Given the description of an element on the screen output the (x, y) to click on. 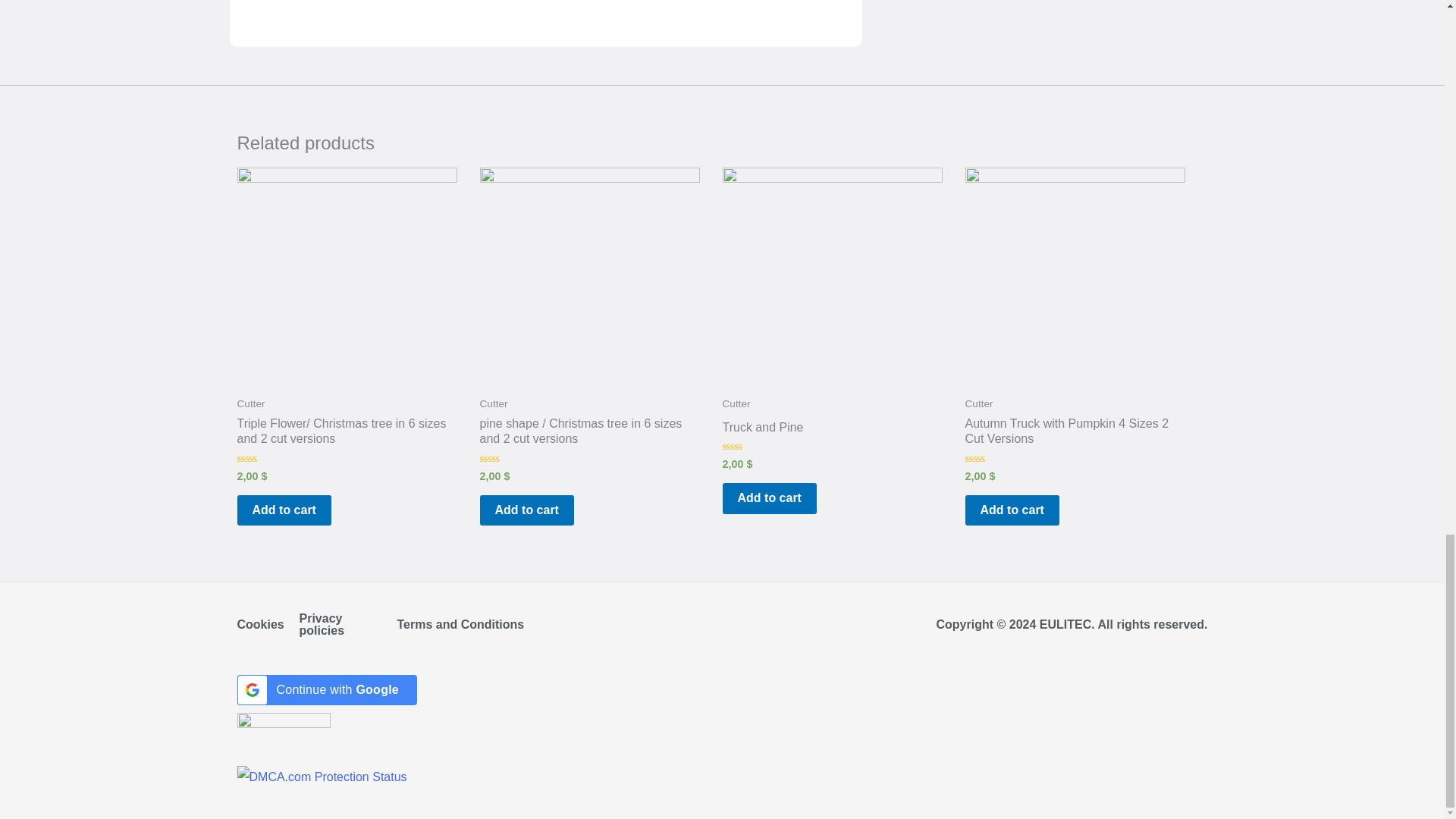
Add to cart (282, 510)
DMCA.com Protection Status (320, 776)
Add to cart (526, 510)
